Given the description of an element on the screen output the (x, y) to click on. 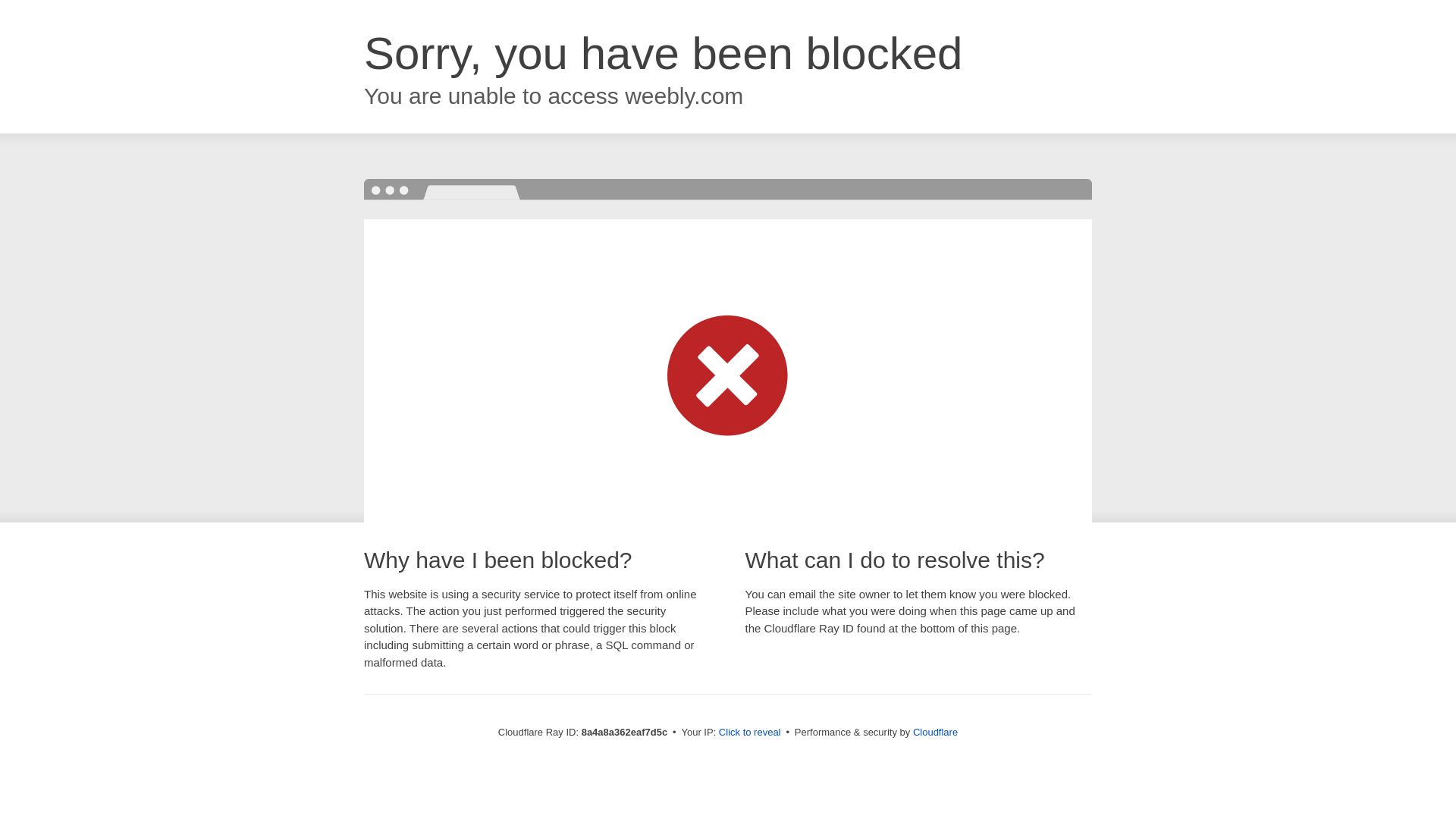
Cloudflare (935, 731)
Click to reveal (749, 732)
